Given the description of an element on the screen output the (x, y) to click on. 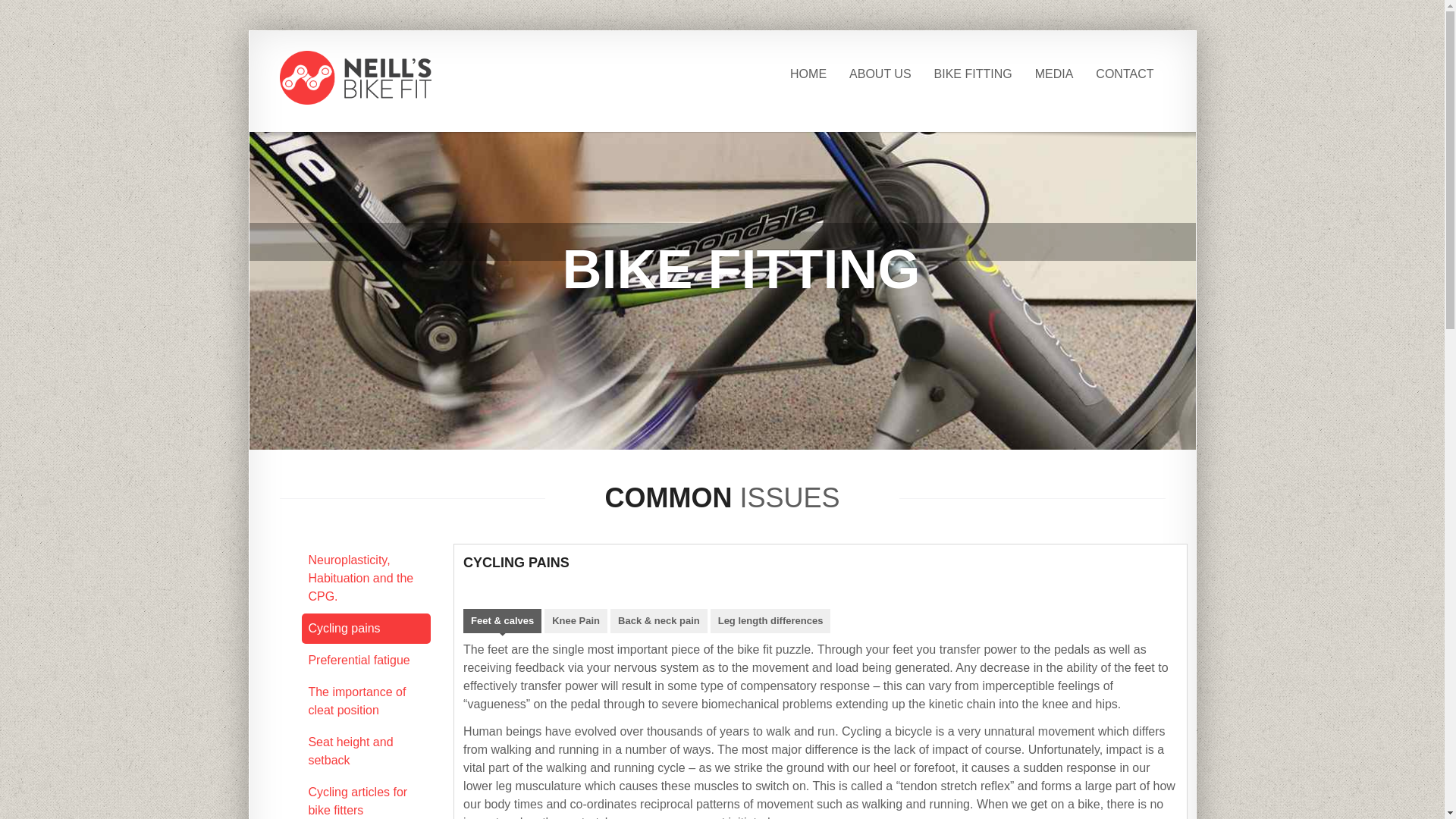
Knee Pain Element type: text (575, 620)
Neuroplasticity, Habituation and the CPG. Element type: text (360, 577)
Cycling pains Element type: text (343, 627)
Preferential fatigue Element type: text (358, 659)
MEDIA Element type: text (1054, 73)
Back & neck pain Element type: text (658, 620)
BIKE FITTING Element type: text (972, 73)
Feet & calves Element type: text (502, 620)
Seat height and setback Element type: text (349, 750)
The importance of cleat position Element type: text (356, 700)
Leg length differences Element type: text (770, 620)
HOME Element type: text (807, 73)
CONTACT Element type: text (1124, 73)
Cycling articles for bike fitters Element type: text (357, 800)
ABOUT US Element type: text (879, 73)
